Given the description of an element on the screen output the (x, y) to click on. 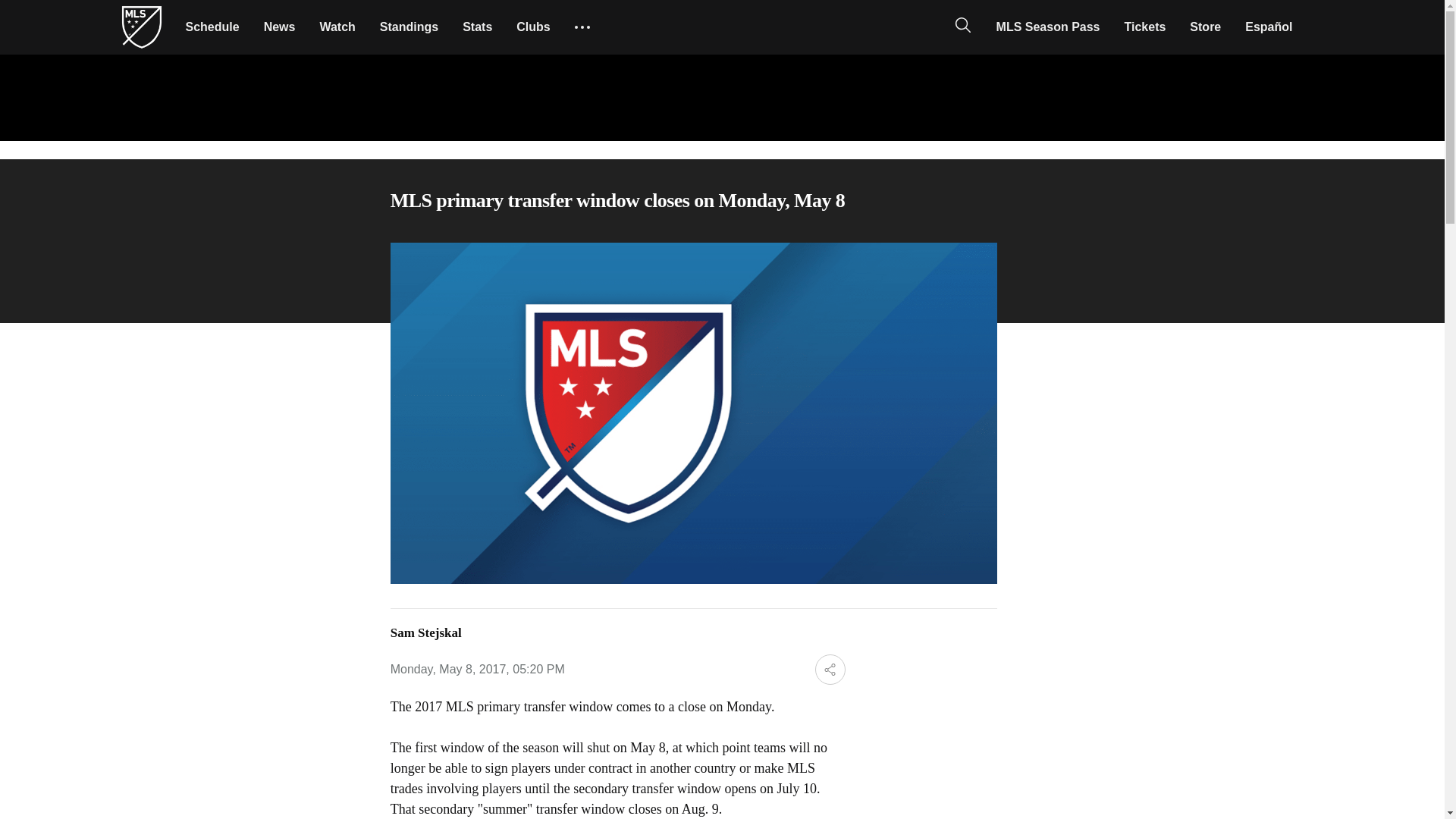
Stats (476, 26)
Store (1205, 26)
Schedule (211, 26)
Standings (408, 26)
MLS Season Pass (1048, 26)
Watch (336, 26)
Clubs (532, 26)
Major League Soccer (141, 27)
News (279, 26)
Tickets (1144, 26)
